Given the description of an element on the screen output the (x, y) to click on. 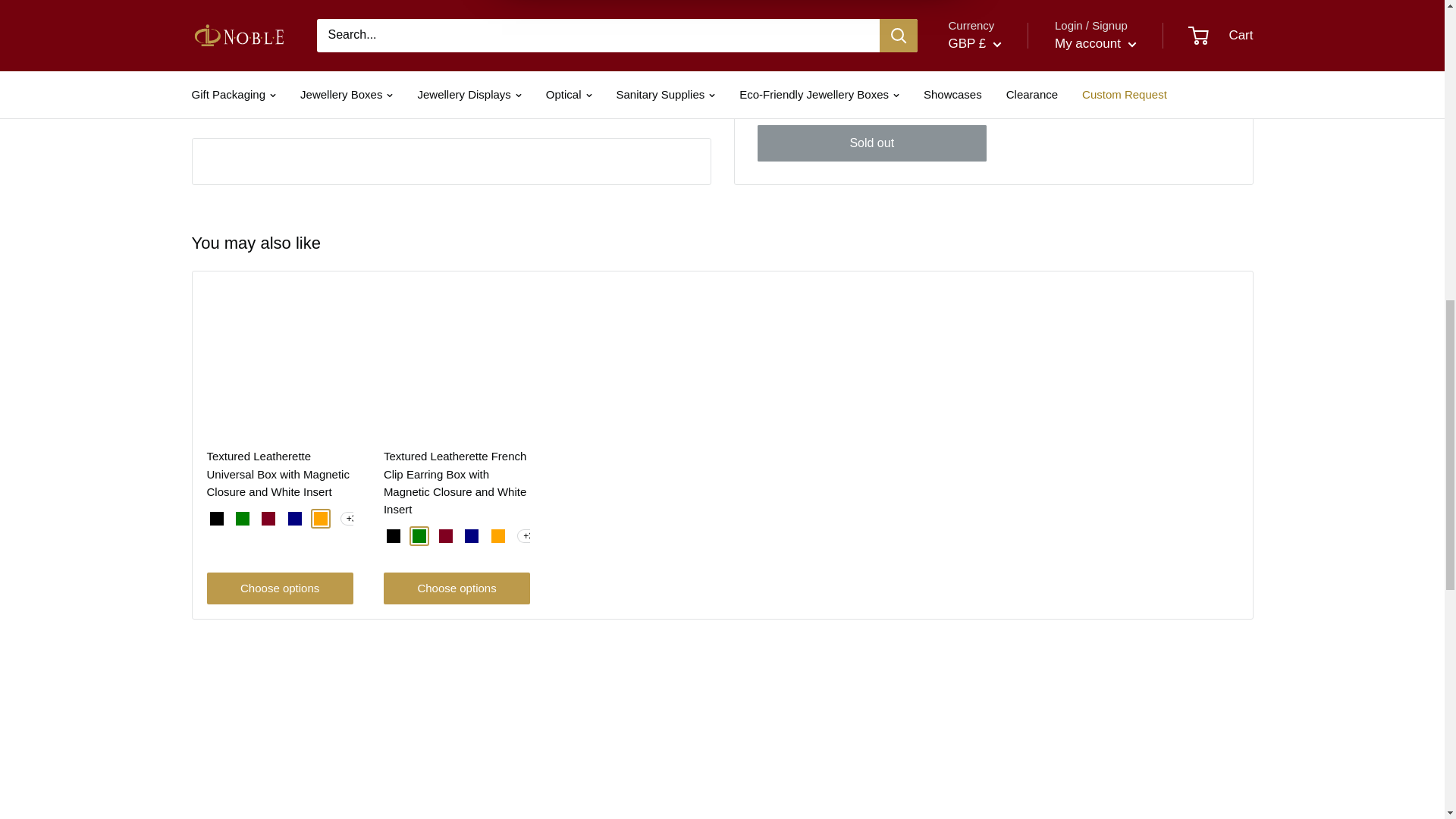
Black (215, 518)
Burgundy (268, 518)
Green (241, 518)
Burgundy (445, 535)
Green (419, 535)
Black (393, 535)
Navy Blue (294, 518)
